Given the description of an element on the screen output the (x, y) to click on. 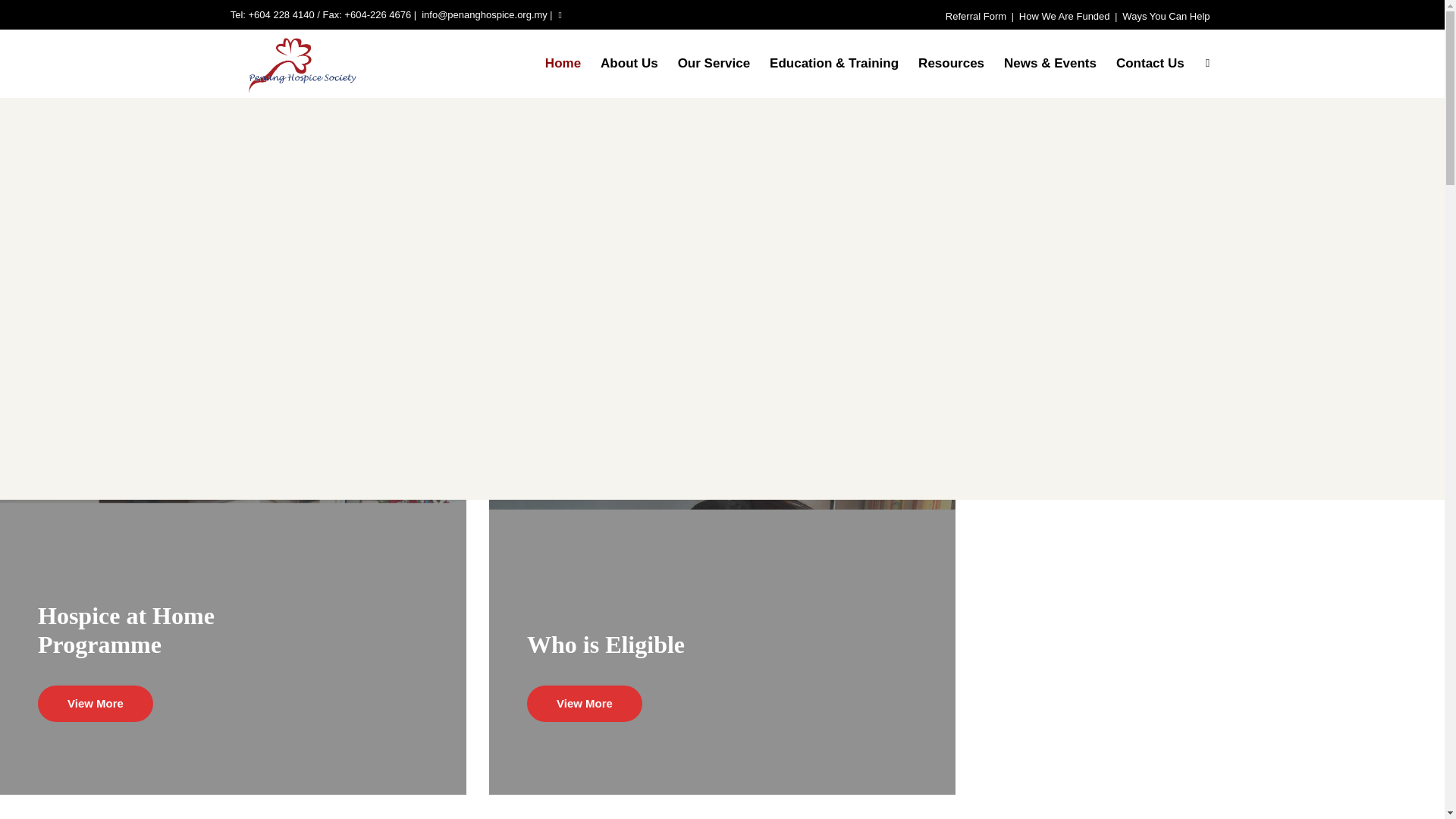
Referral Form (975, 16)
How We Are Funded (1064, 16)
About Us (629, 63)
Contact Us (1149, 63)
Ways You Can Help (1165, 16)
Our Service (714, 63)
Resources (951, 63)
